Given the description of an element on the screen output the (x, y) to click on. 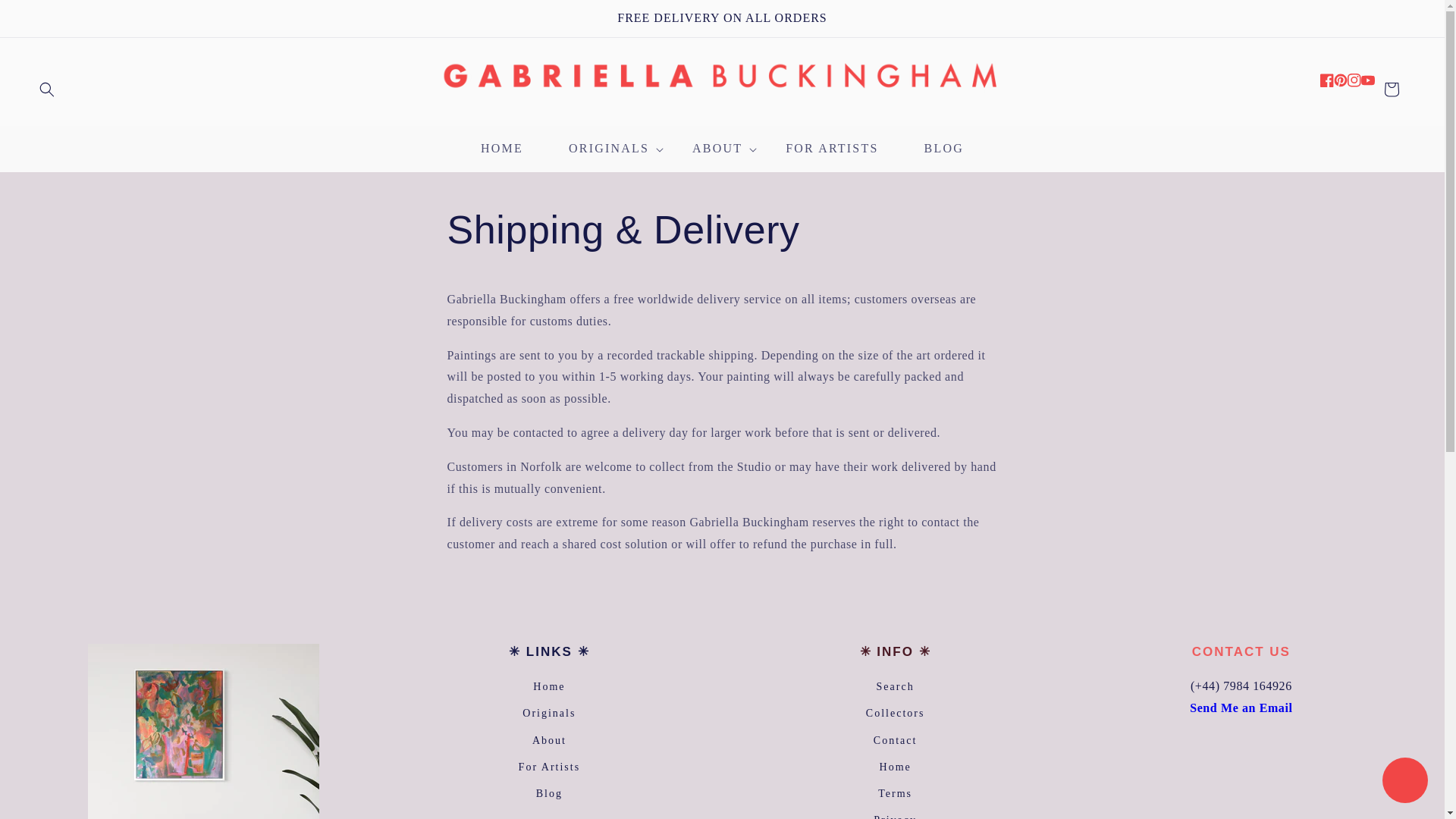
FOR ARTISTS (831, 148)
Cart (1390, 89)
Contact (1240, 707)
BLOG (944, 148)
HOME (502, 148)
Shopify online store chat (1404, 781)
SKIP TO CONTENT (45, 17)
